Given the description of an element on the screen output the (x, y) to click on. 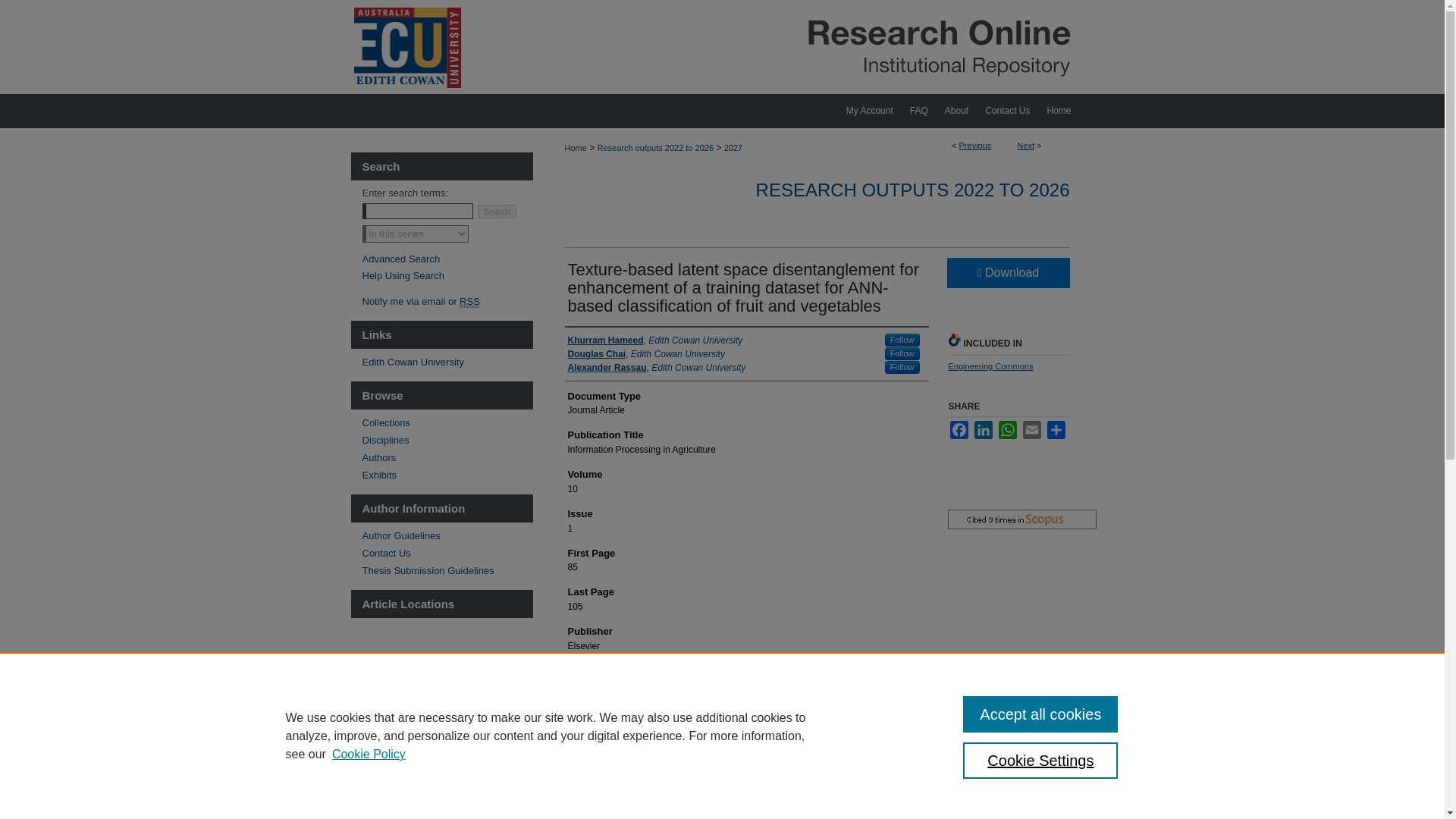
Follow (902, 353)
Download (1007, 272)
Facebook (958, 429)
About (956, 110)
Research Online (721, 47)
Alexander Rassau, Edith Cowan University (656, 367)
My Account (869, 110)
Home (1065, 110)
Follow Alexander Rassau (902, 367)
Engineering Commons (989, 366)
Contact Us (1007, 110)
Previous (975, 144)
Search (496, 211)
Share (1055, 429)
